Given the description of an element on the screen output the (x, y) to click on. 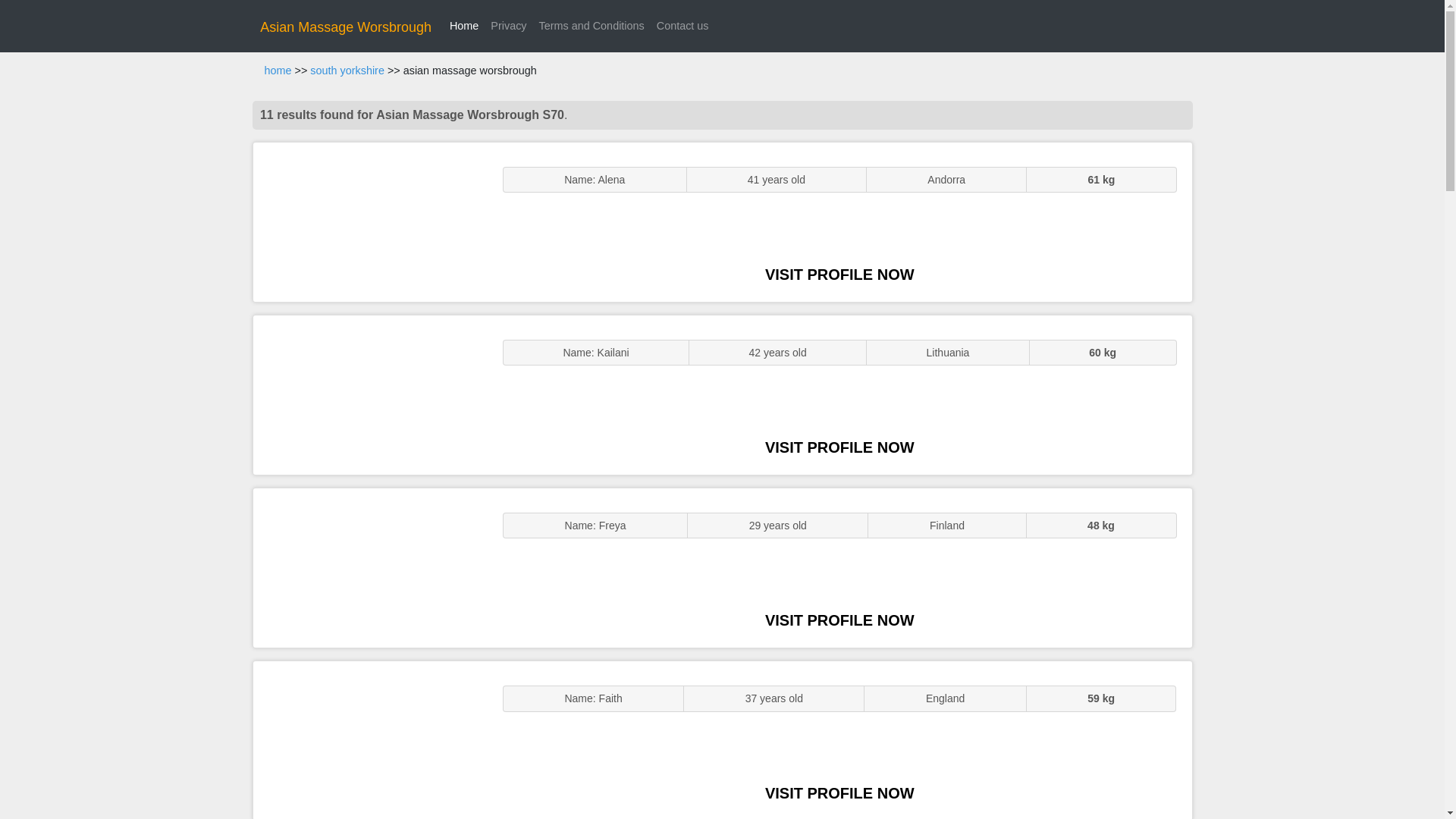
south yorkshire (347, 70)
home (277, 70)
Asian Massage Worsbrough (345, 27)
Sexy (370, 567)
VISIT PROFILE NOW (839, 446)
 ENGLISH STUNNER (370, 222)
Sluts (370, 739)
Terms and Conditions (591, 25)
Contact us (682, 25)
VISIT PROFILE NOW (839, 792)
